Given the description of an element on the screen output the (x, y) to click on. 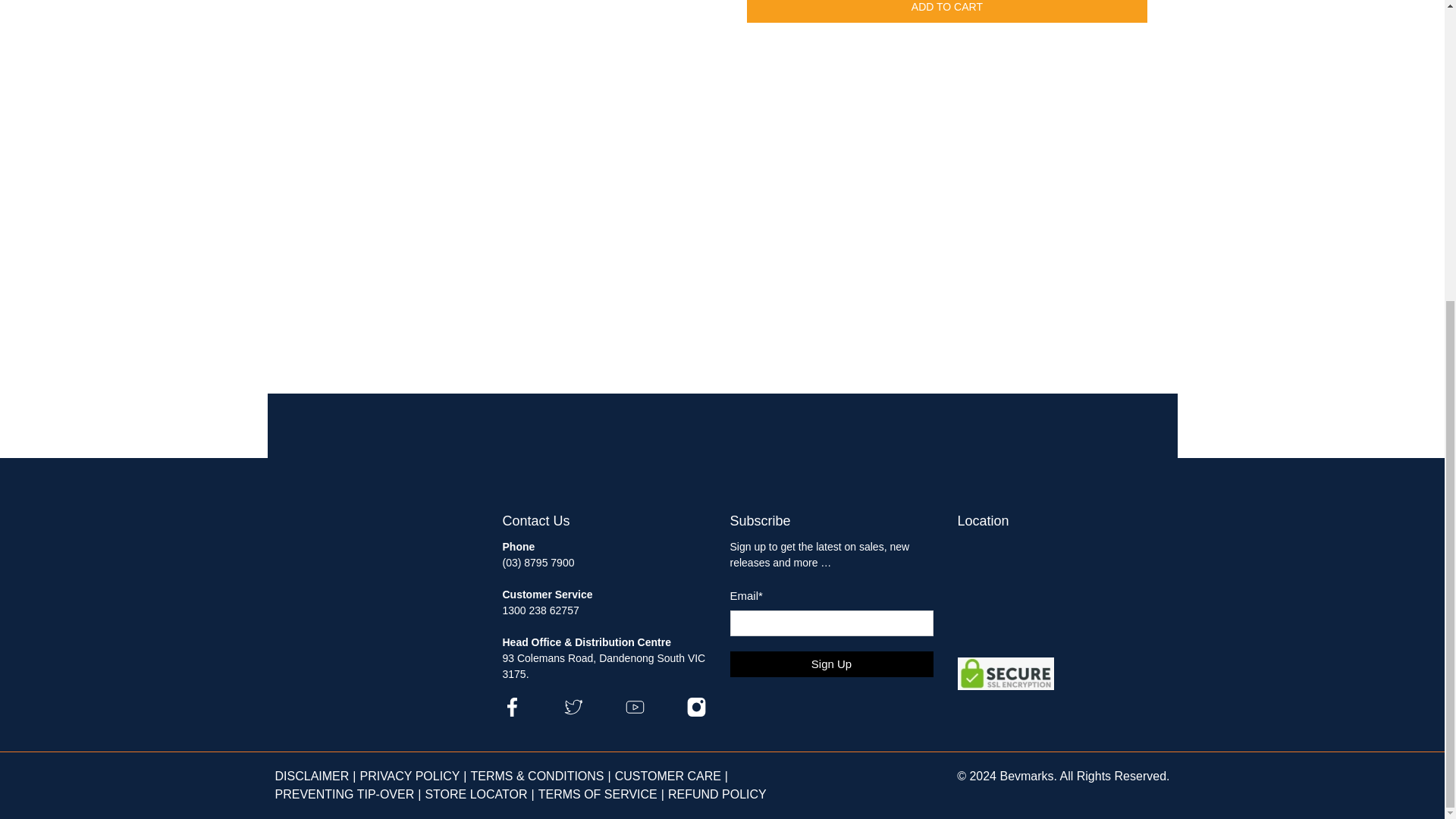
customer call (540, 610)
footer-phone (537, 570)
Bevmarks (338, 536)
Bevmarks on Facebook (511, 712)
Bevmarks on Instagram (696, 712)
Bevmarks on YouTube (633, 712)
Bevmarks on Twitter (573, 712)
